Given the description of an element on the screen output the (x, y) to click on. 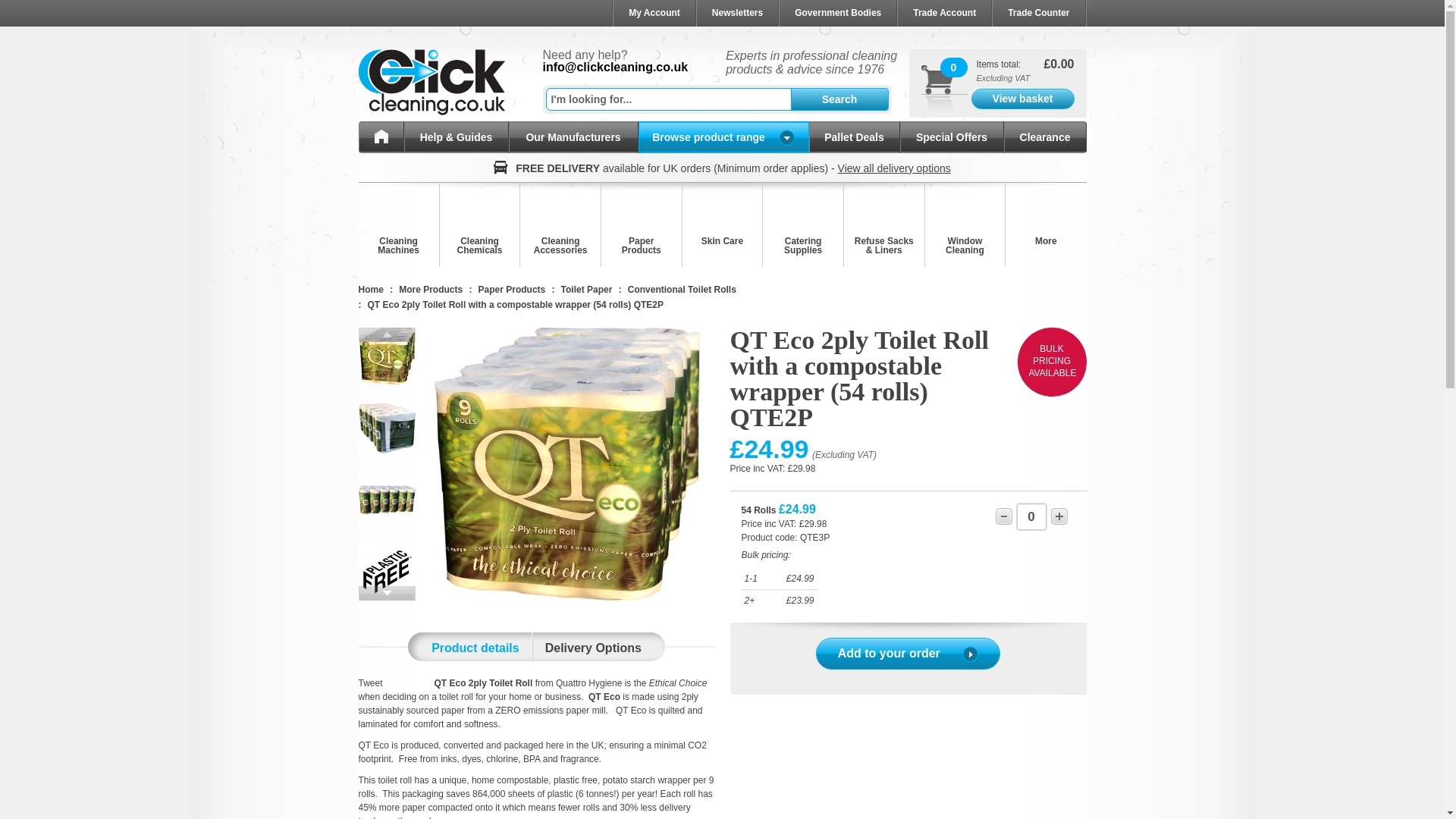
Search (839, 98)
My Account (653, 13)
0 (1030, 516)
Click Cleaning Ltd (430, 82)
Newsletters (736, 13)
Home (381, 136)
Trade Account (943, 13)
Browse product range (723, 137)
Government Bodies (837, 13)
Trade Counter (1037, 13)
View basket (1022, 98)
Our Manufacturers (573, 137)
